Given the description of an element on the screen output the (x, y) to click on. 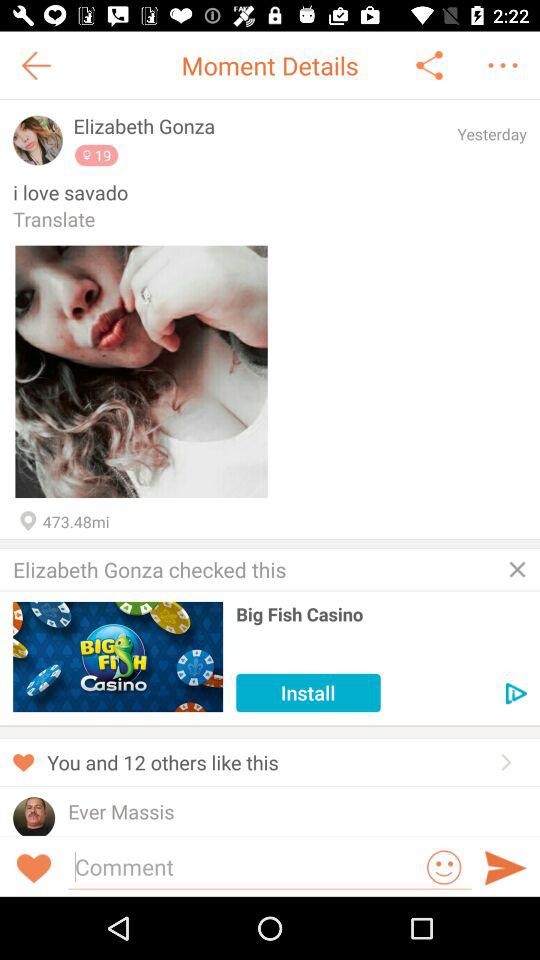
click on advertisement (515, 693)
